Given the description of an element on the screen output the (x, y) to click on. 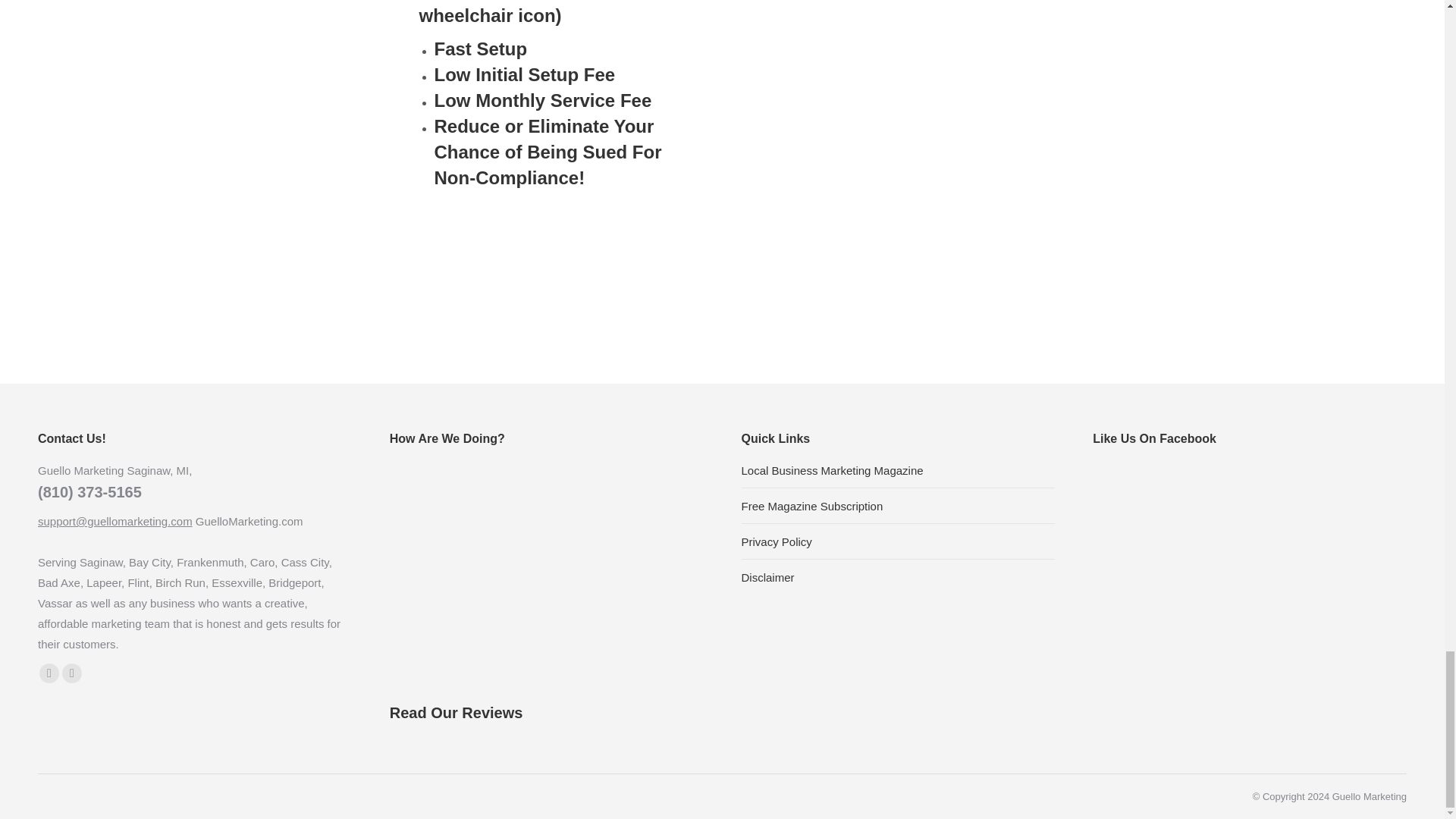
Protection (885, 104)
Yelp page opens in new window (71, 673)
Facebook page opens in new window (49, 673)
